Given the description of an element on the screen output the (x, y) to click on. 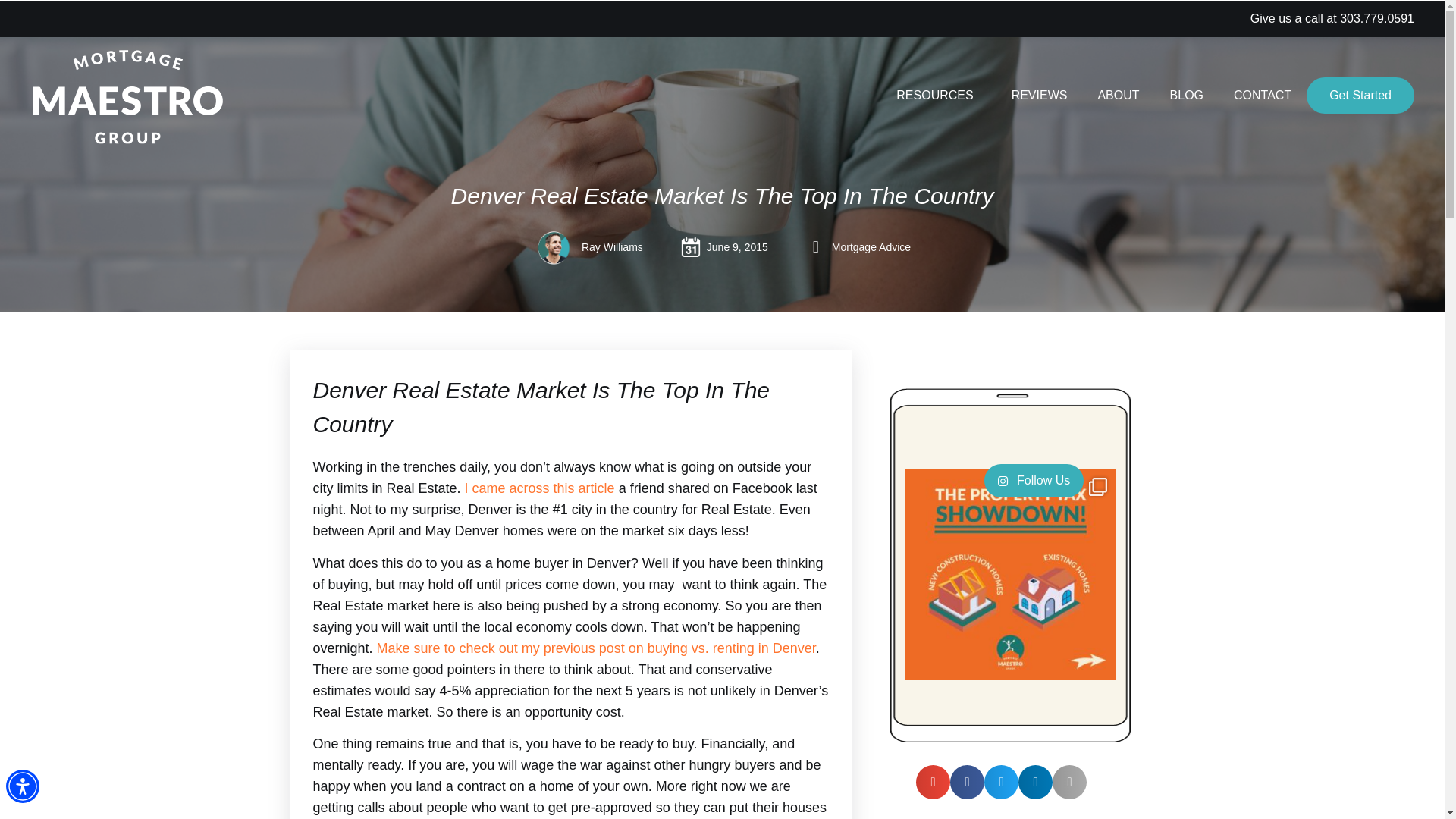
303.779.0591 (1376, 18)
Get Started (1359, 94)
CONTACT (1262, 94)
REVIEWS (1039, 94)
RESOURCES (937, 94)
ABOUT (1117, 94)
Accessibility Menu (22, 786)
BLOG (1186, 94)
